Given the description of an element on the screen output the (x, y) to click on. 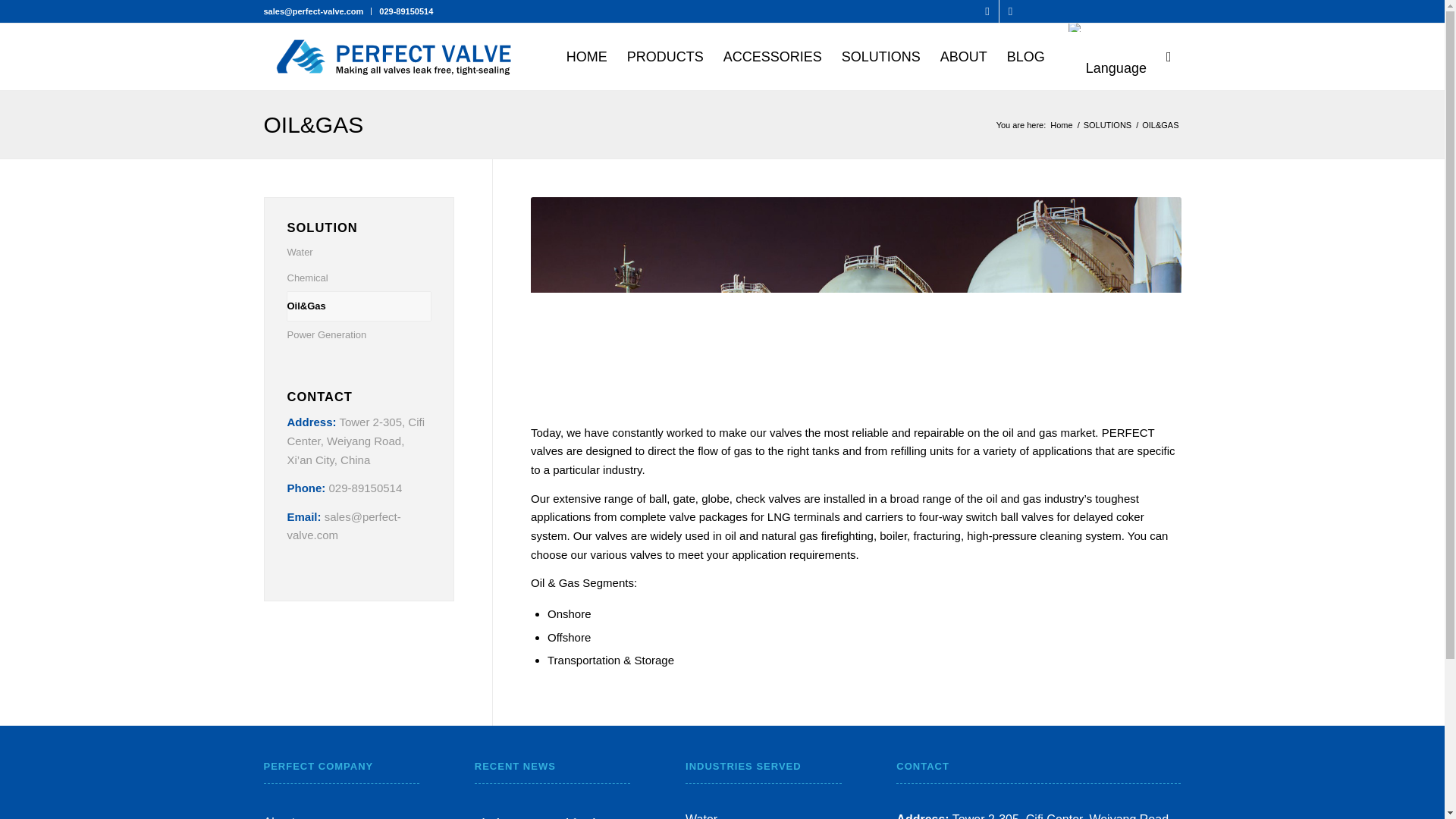
Language (1074, 26)
PRODUCTS (665, 56)
SOLUTIONS (880, 56)
Twitter (987, 11)
ACCESSORIES (772, 56)
Language (1105, 56)
029-89150514 (405, 11)
HOME (586, 56)
Facebook (1010, 11)
ABOUT (963, 56)
